Given the description of an element on the screen output the (x, y) to click on. 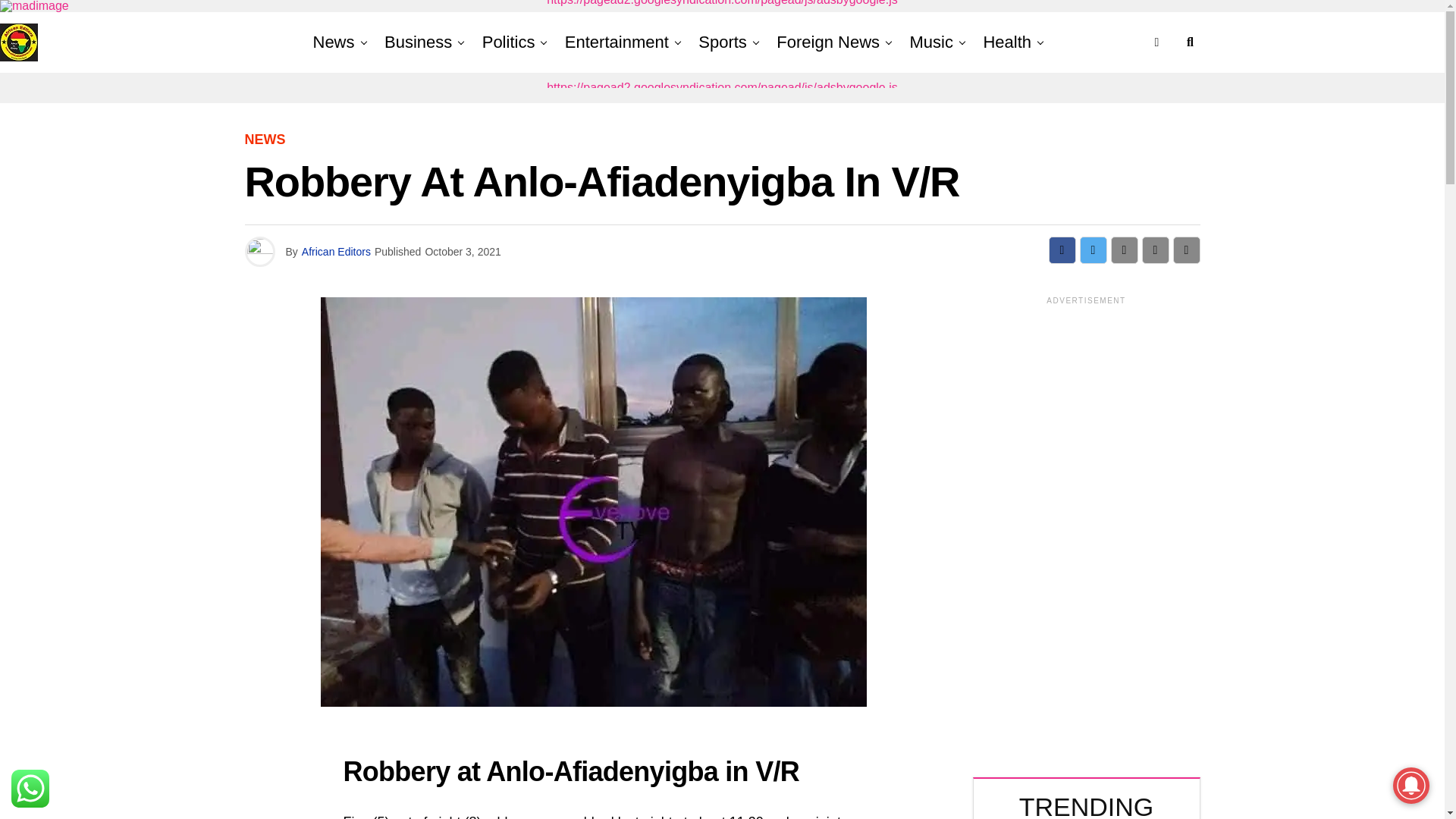
Entertainment (617, 42)
Posts by African Editors (336, 251)
Tweet This Post (1093, 249)
Politics (508, 42)
Business (418, 42)
News (337, 42)
Sports (722, 42)
Share on Facebook (1061, 249)
